Given the description of an element on the screen output the (x, y) to click on. 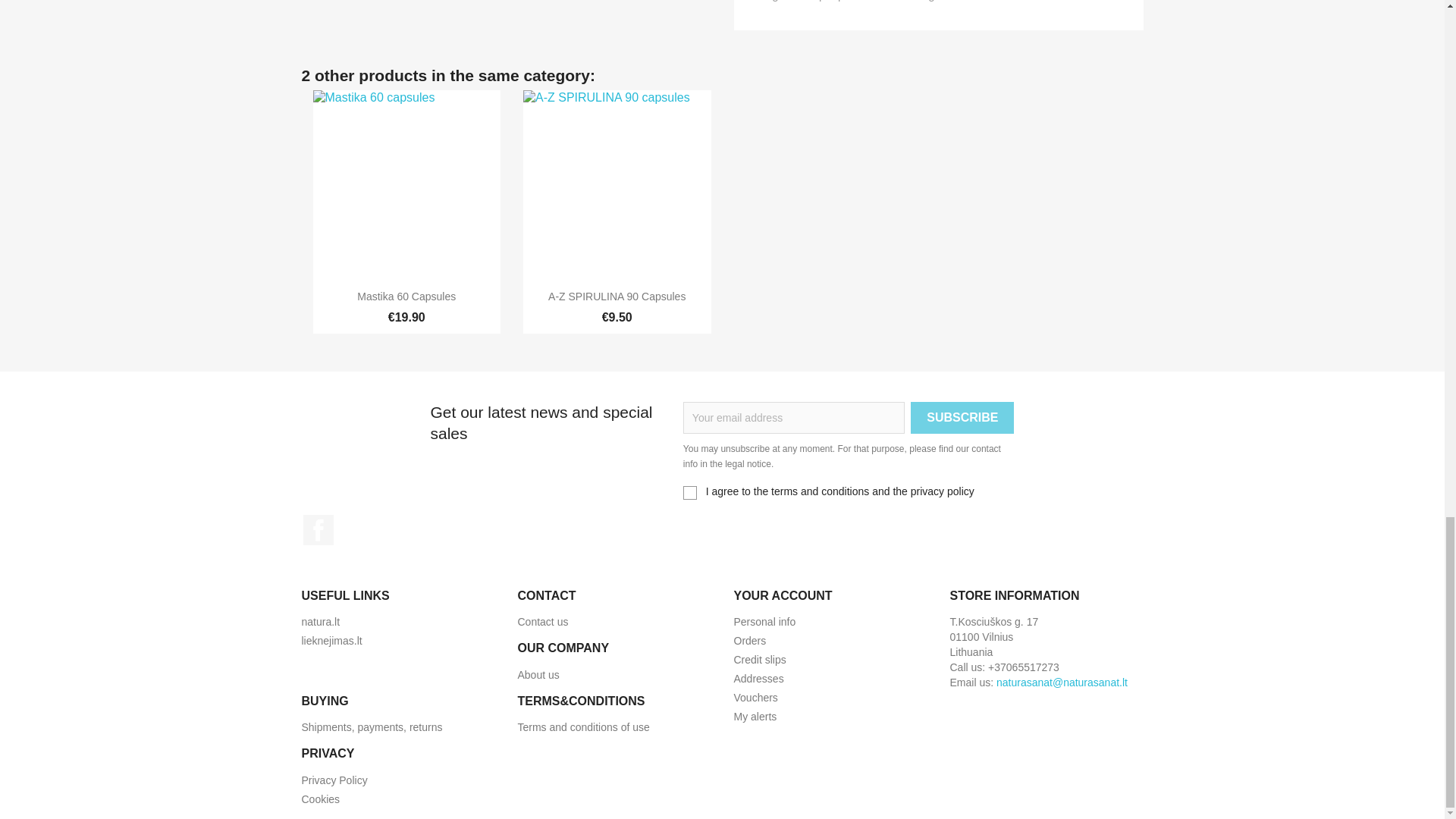
Vouchers (755, 697)
Cookies In Use on This Site (320, 799)
Privacy Policy (334, 779)
Subscribe (962, 418)
Addresses (758, 678)
Privacy Policy (334, 779)
Subscribe (962, 418)
Shipments, payments, returns (371, 727)
lieknejimas.lt (331, 640)
Credit slips (759, 659)
